Given the description of an element on the screen output the (x, y) to click on. 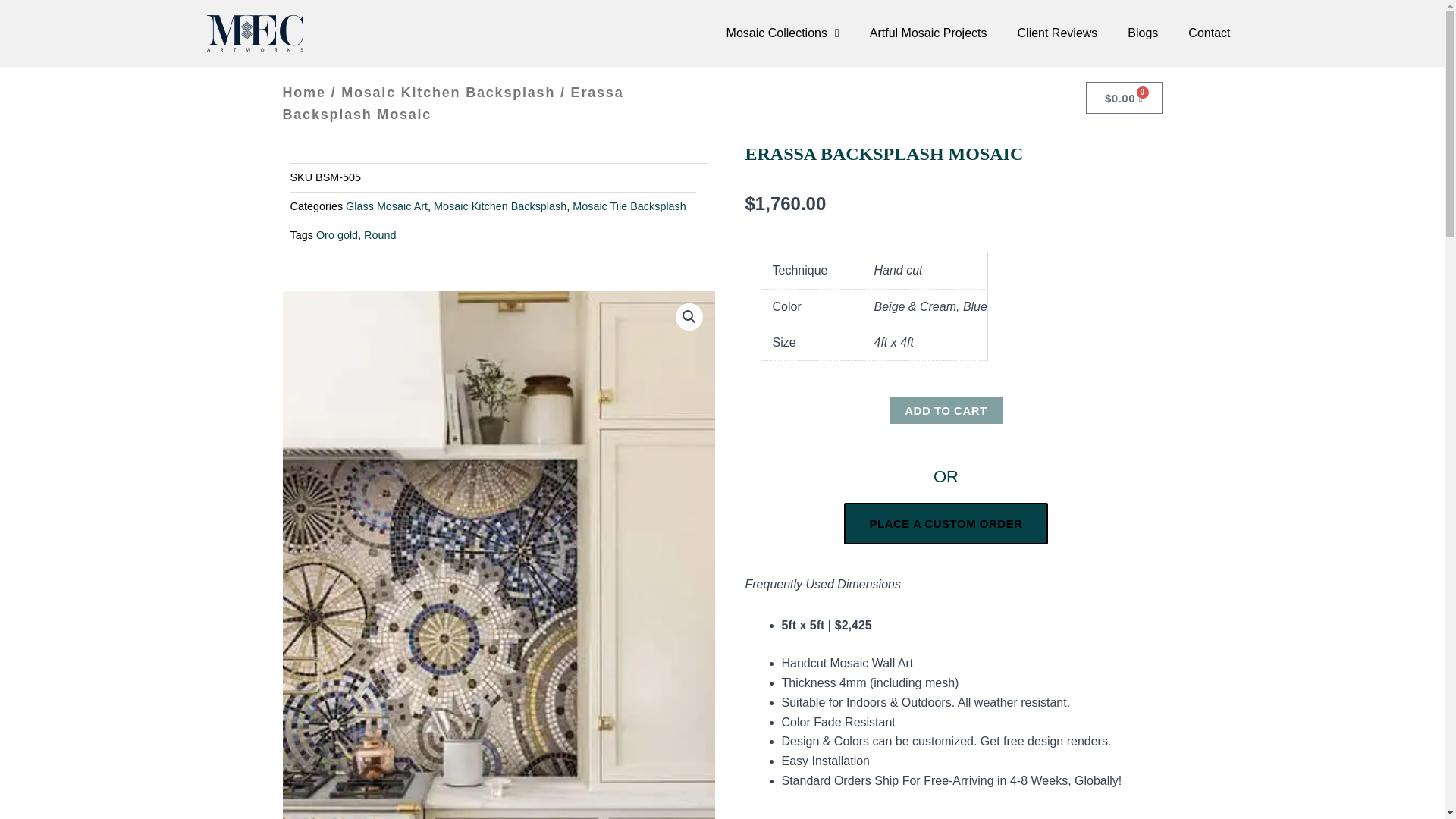
Artful Mosaic Projects (928, 32)
Blogs (1142, 32)
Mosaic Collections (782, 32)
Contact (1208, 32)
Client Reviews (1058, 32)
